Given the description of an element on the screen output the (x, y) to click on. 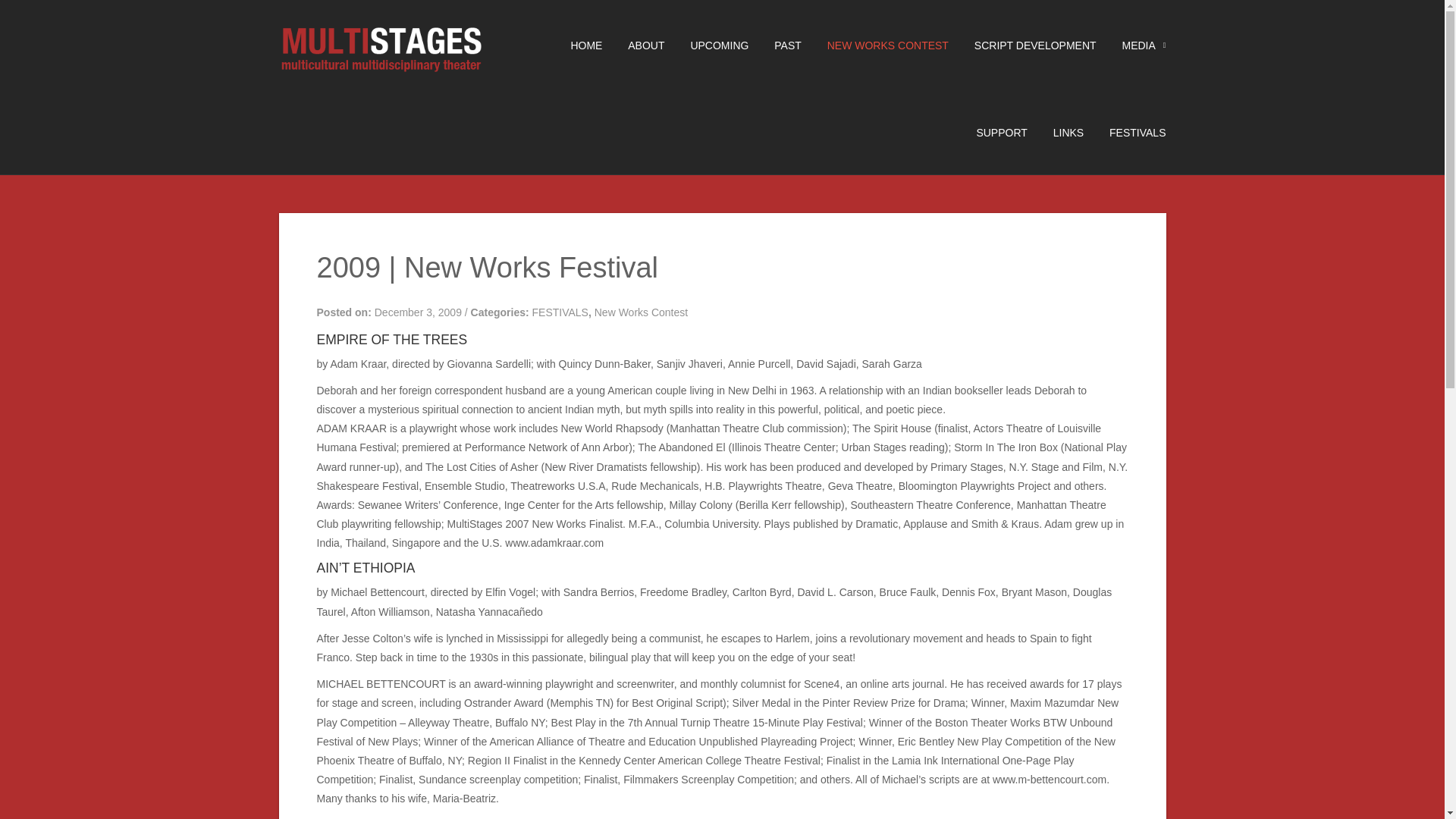
PAST (776, 45)
UPCOMING (707, 45)
SCRIPT DEVELOPMENT (1024, 45)
MultiStages (381, 52)
MEDIA (1132, 45)
ABOUT (634, 45)
SUPPORT (989, 132)
FESTIVALS (560, 312)
NEW WORKS CONTEST (877, 45)
FESTIVALS (1126, 132)
HOME (574, 45)
LINKS (1056, 132)
New Works Contest (640, 312)
